Given the description of an element on the screen output the (x, y) to click on. 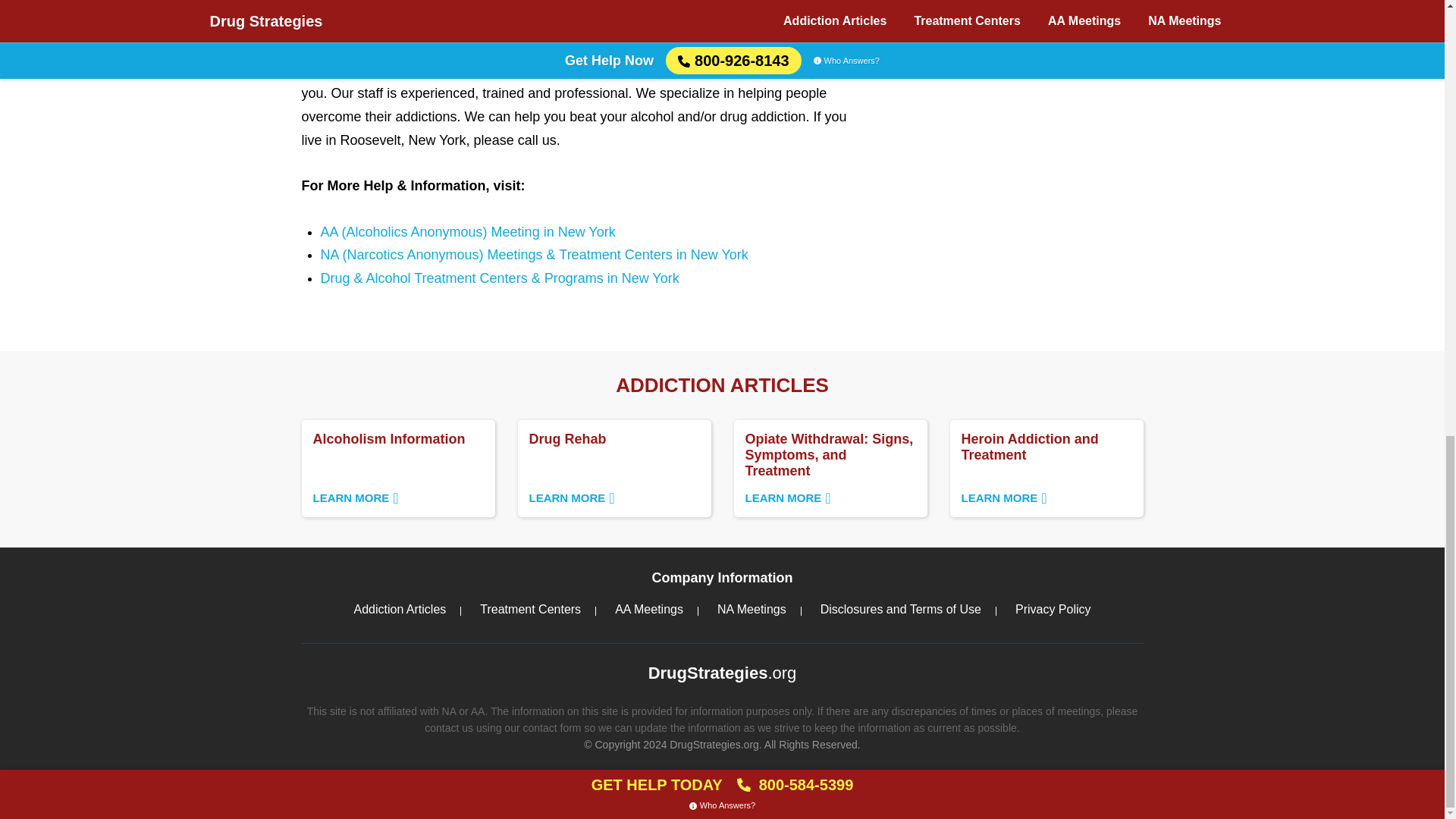
Treatment Centers (529, 608)
Privacy Policy (1053, 608)
Disclosures and Terms of Use (1045, 468)
NA Meetings (900, 608)
Addiction Articles (398, 468)
DrugStrategies.org (751, 608)
AA Meetings (613, 468)
